Given the description of an element on the screen output the (x, y) to click on. 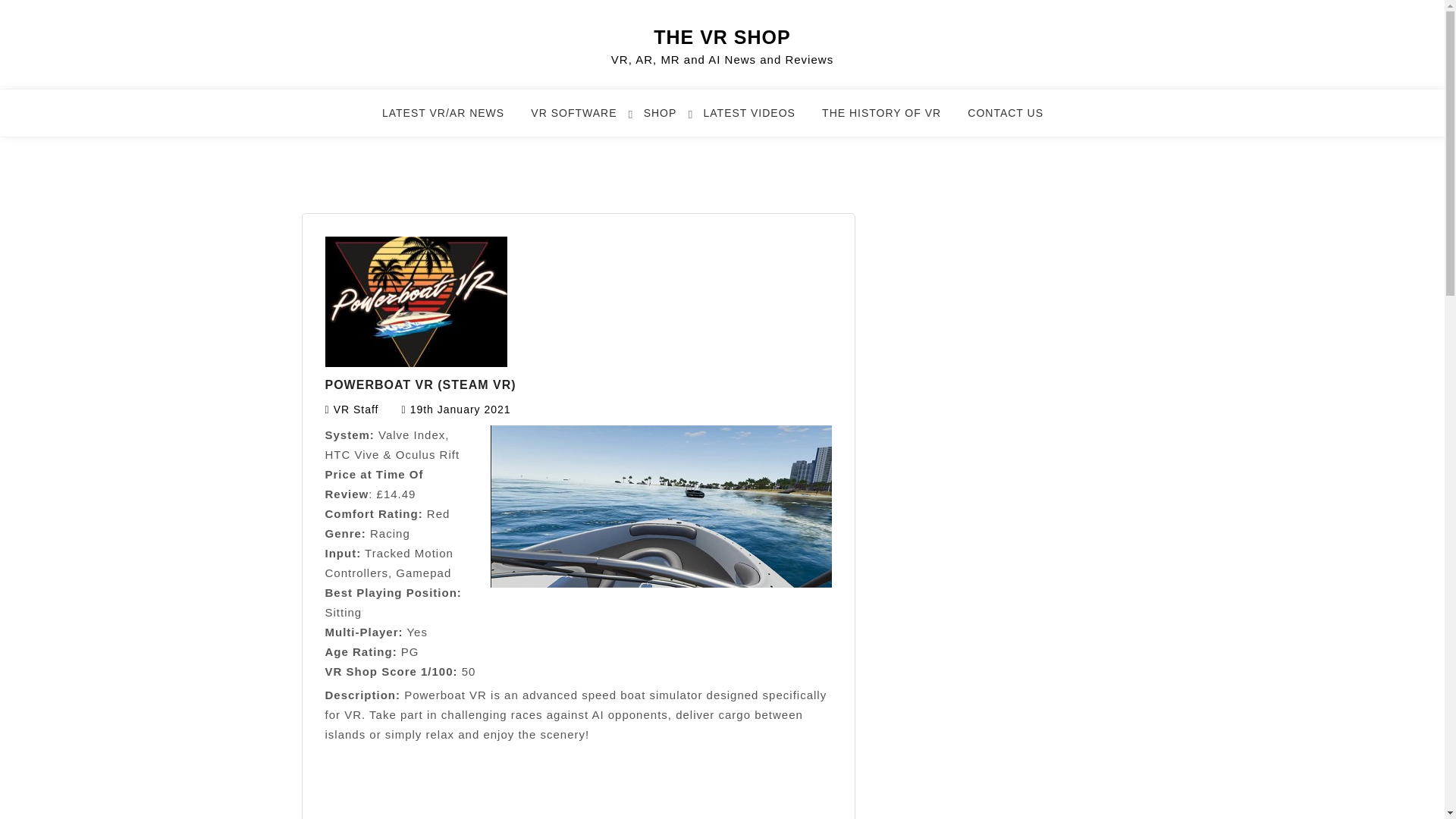
VR Staff (355, 409)
19th January 2021 (460, 409)
VR SOFTWARE (582, 119)
CONTACT US (1015, 119)
Advertisement (577, 803)
LATEST VIDEOS (758, 119)
SHOP (669, 119)
THE VR SHOP (721, 36)
THE HISTORY OF VR (890, 119)
